Given the description of an element on the screen output the (x, y) to click on. 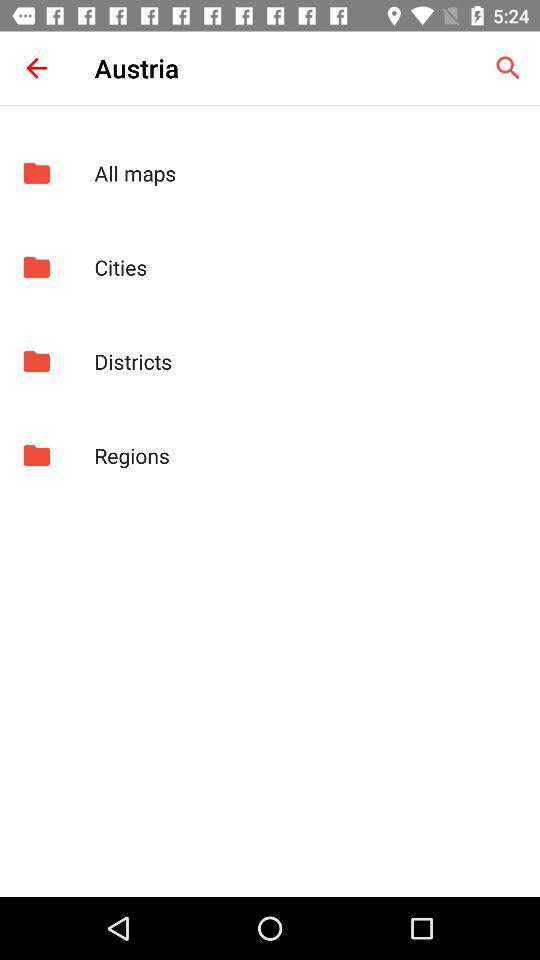
press icon below the all maps icon (306, 267)
